Given the description of an element on the screen output the (x, y) to click on. 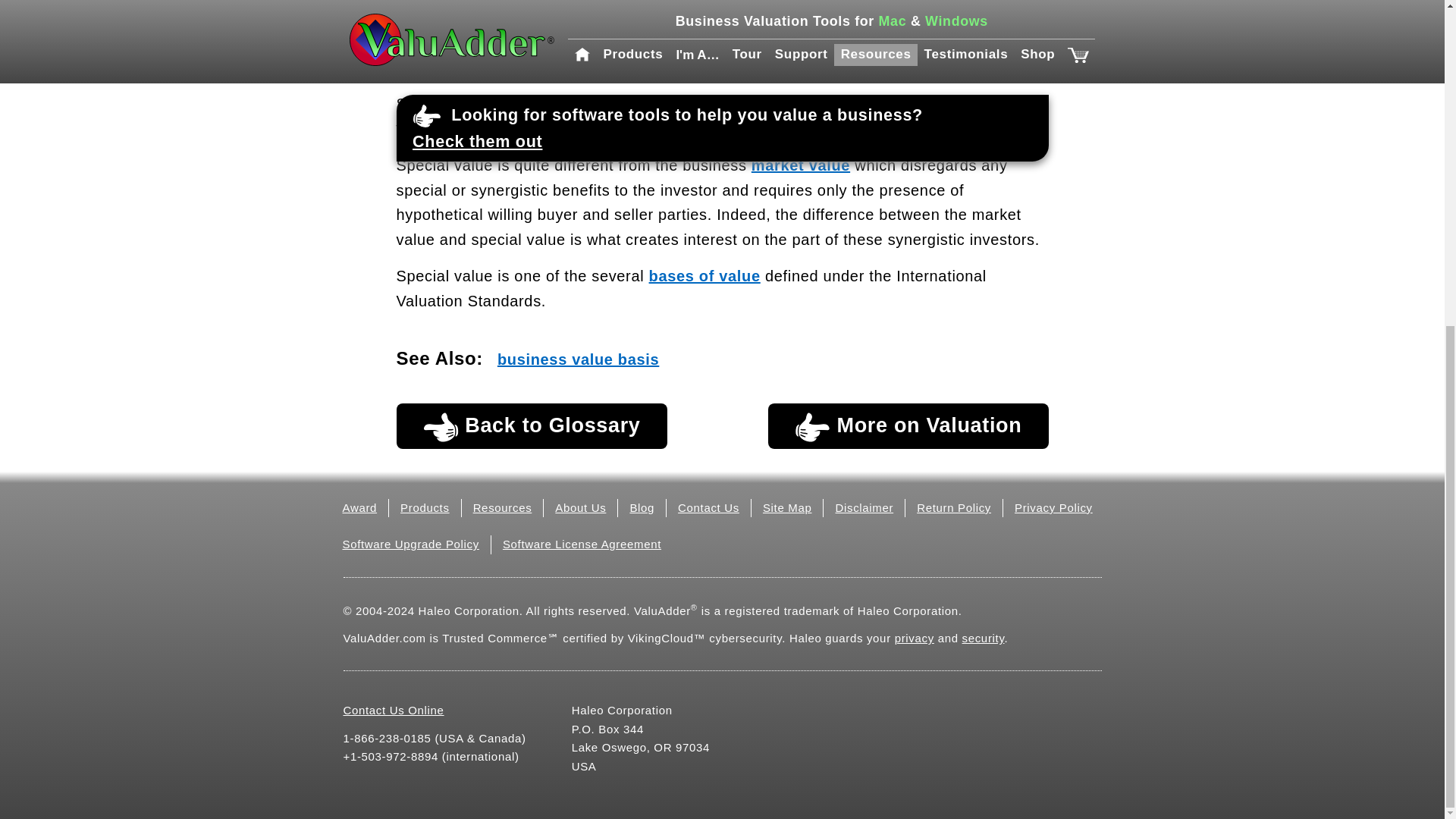
Privacy Policy (1053, 507)
Back to Glossary (531, 425)
About us (579, 507)
About Us (579, 507)
More on Valuation (908, 425)
Return Policy (954, 507)
Business Valuation Guide, Glossary and Other Resources (502, 507)
business value basis (578, 359)
Information on how we will use information you give us (914, 637)
Software Upgrade Policy (410, 543)
Business Valuation Glossary (531, 425)
Software License Agreement (581, 543)
Award (359, 507)
A map of our Web site (787, 507)
Products (424, 507)
